Given the description of an element on the screen output the (x, y) to click on. 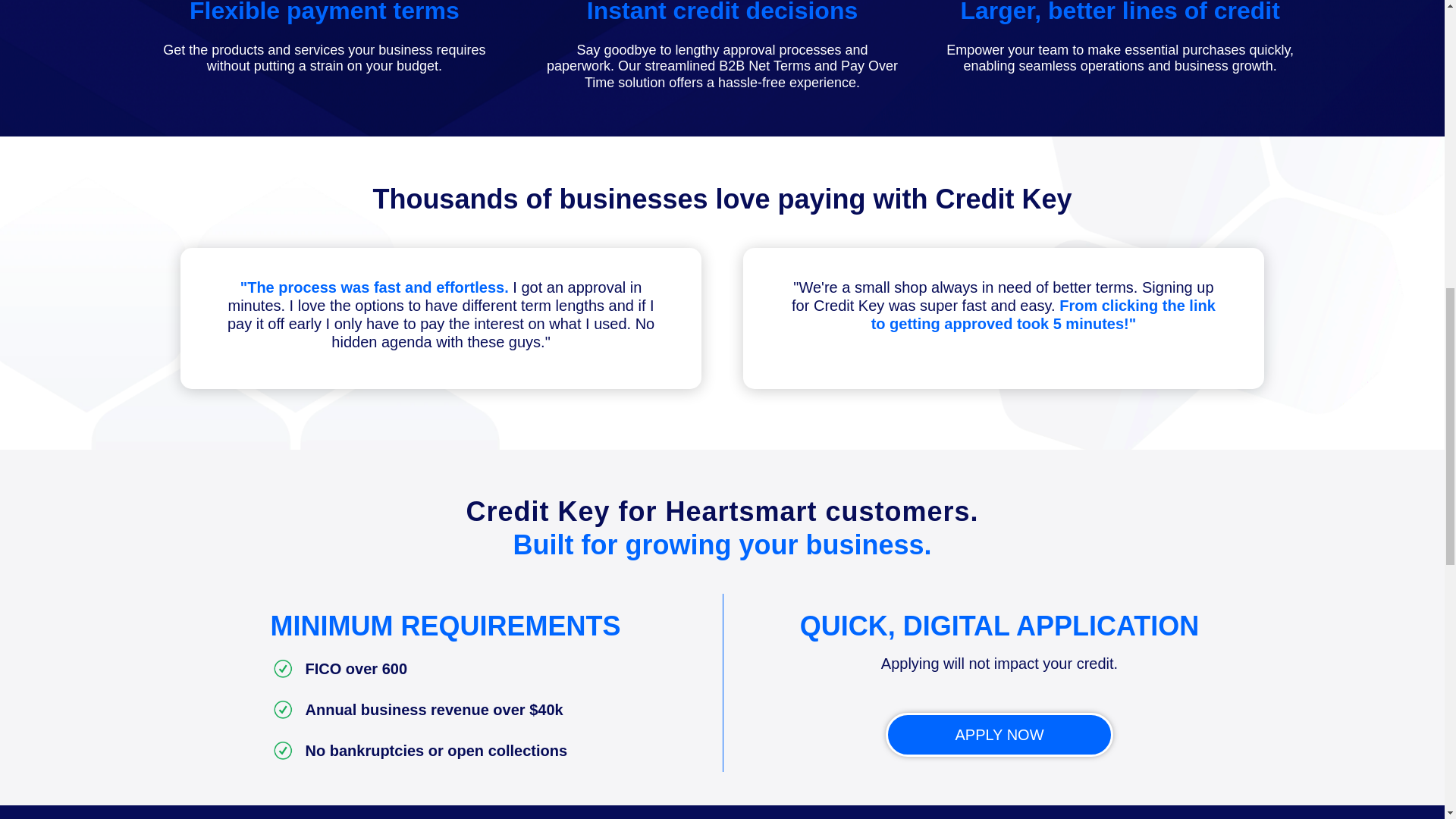
APPLY NOW (999, 734)
